Given the description of an element on the screen output the (x, y) to click on. 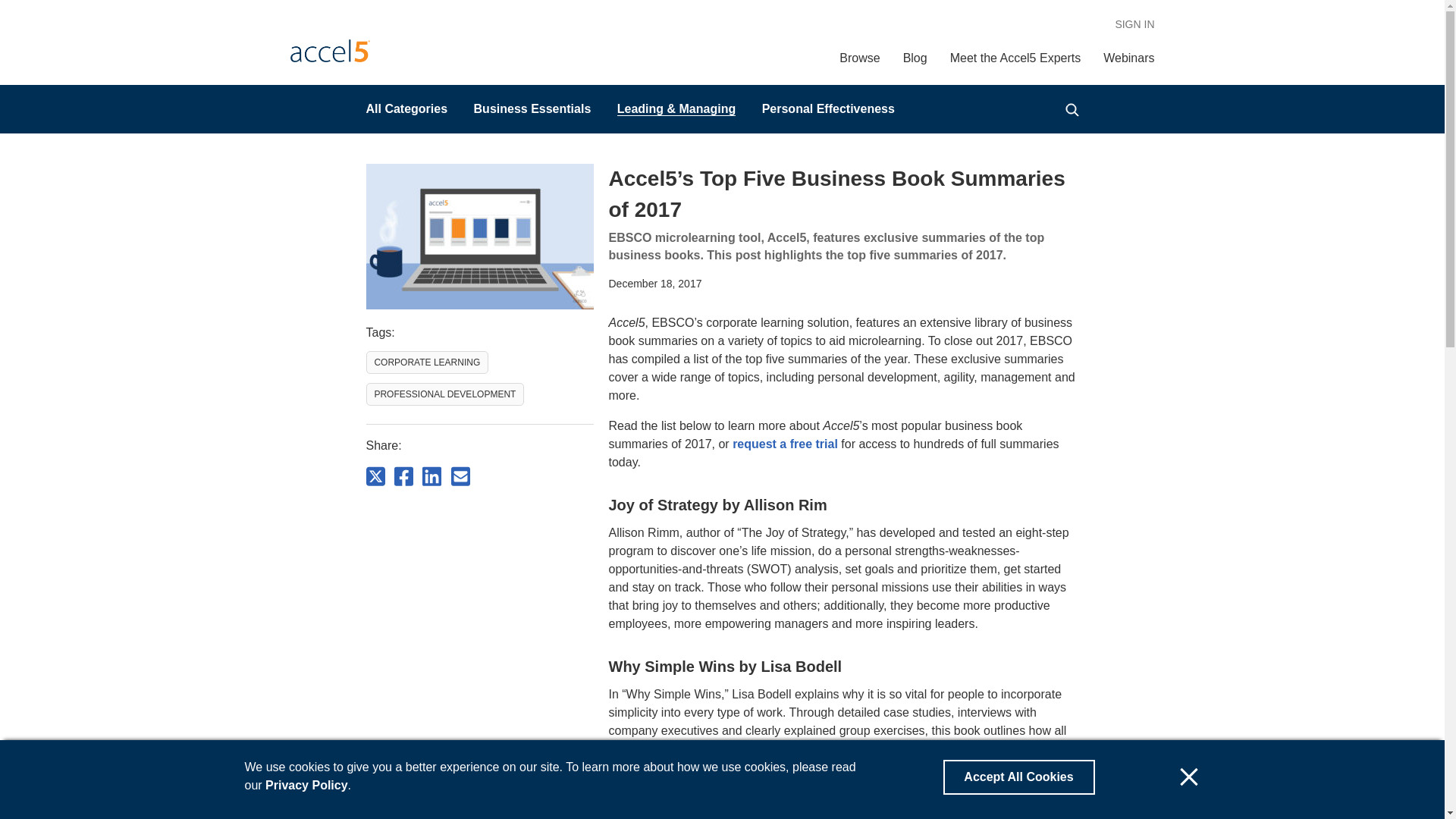
magnifying glass (1071, 110)
Webinars (1128, 58)
Personal Effectiveness (828, 109)
SIGN IN (1134, 24)
Accel5 (329, 50)
request a free trial (785, 444)
PROFESSIONAL DEVELOPMENT (444, 394)
CORPORATE LEARNING (426, 362)
Business Essentials (532, 109)
Accel5 (329, 50)
All Categories (405, 109)
Browse (859, 58)
Blog (914, 58)
Meet the Accel5 Experts (1015, 58)
